Given the description of an element on the screen output the (x, y) to click on. 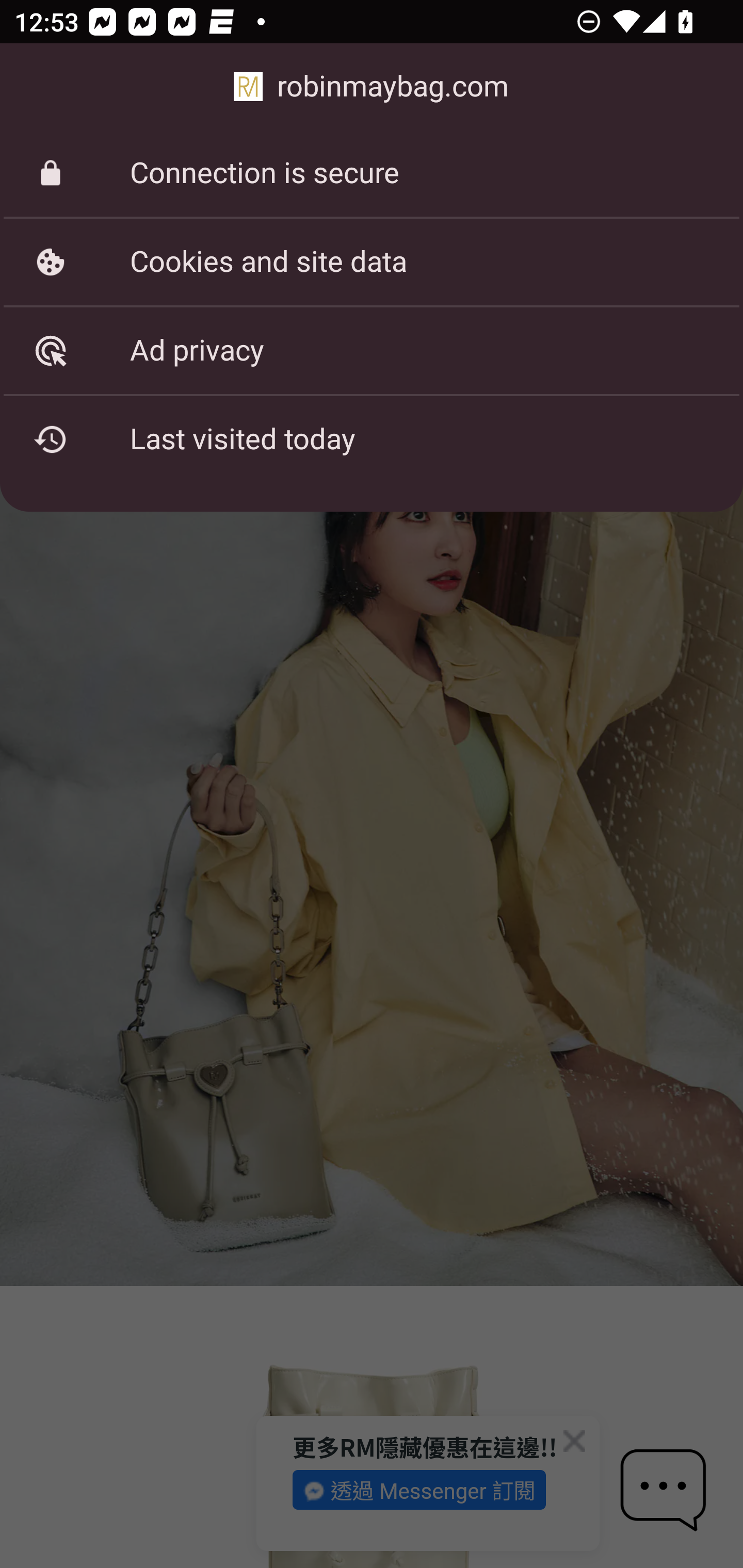
robinmaybag.com (371, 86)
Connection is secure (371, 173)
Cookies and site data (371, 261)
Ad privacy (371, 350)
Last visited today (371, 439)
